Given the description of an element on the screen output the (x, y) to click on. 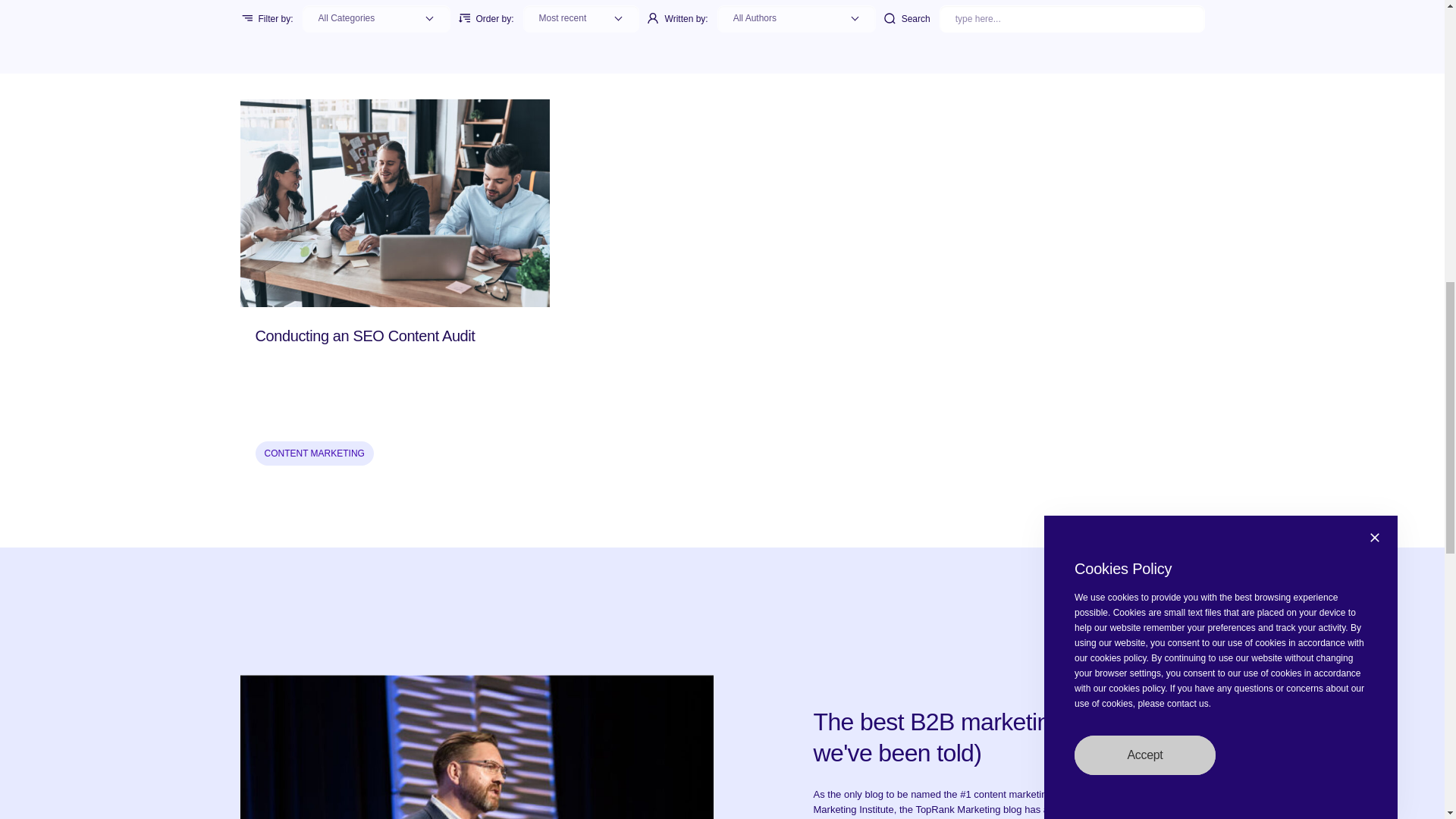
Search (1072, 18)
